Given the description of an element on the screen output the (x, y) to click on. 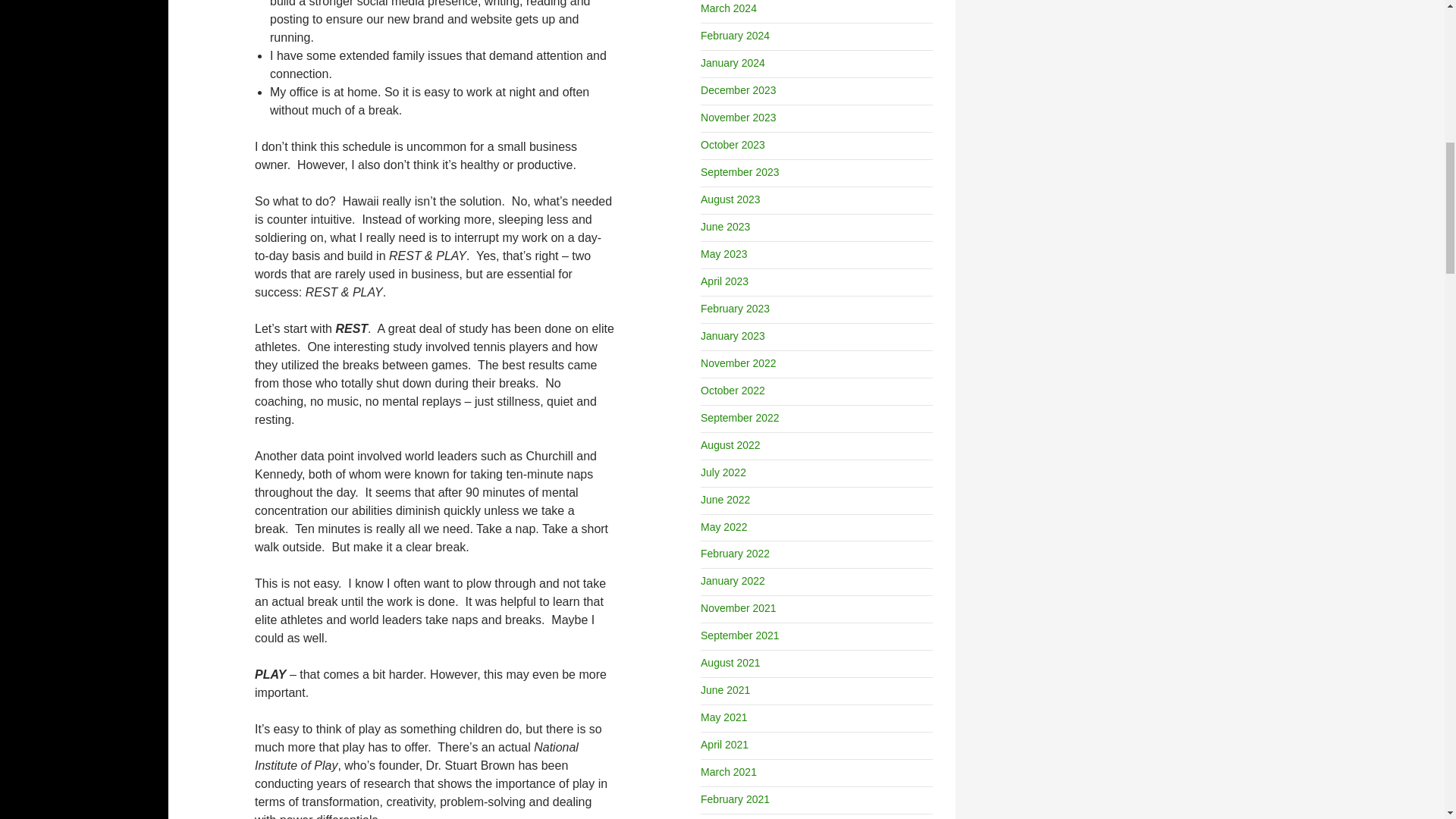
October 2023 (732, 144)
December 2023 (738, 90)
January 2023 (732, 336)
February 2023 (735, 308)
August 2023 (730, 199)
September 2023 (739, 172)
June 2023 (724, 226)
May 2023 (723, 254)
November 2023 (738, 117)
February 2024 (735, 35)
